Given the description of an element on the screen output the (x, y) to click on. 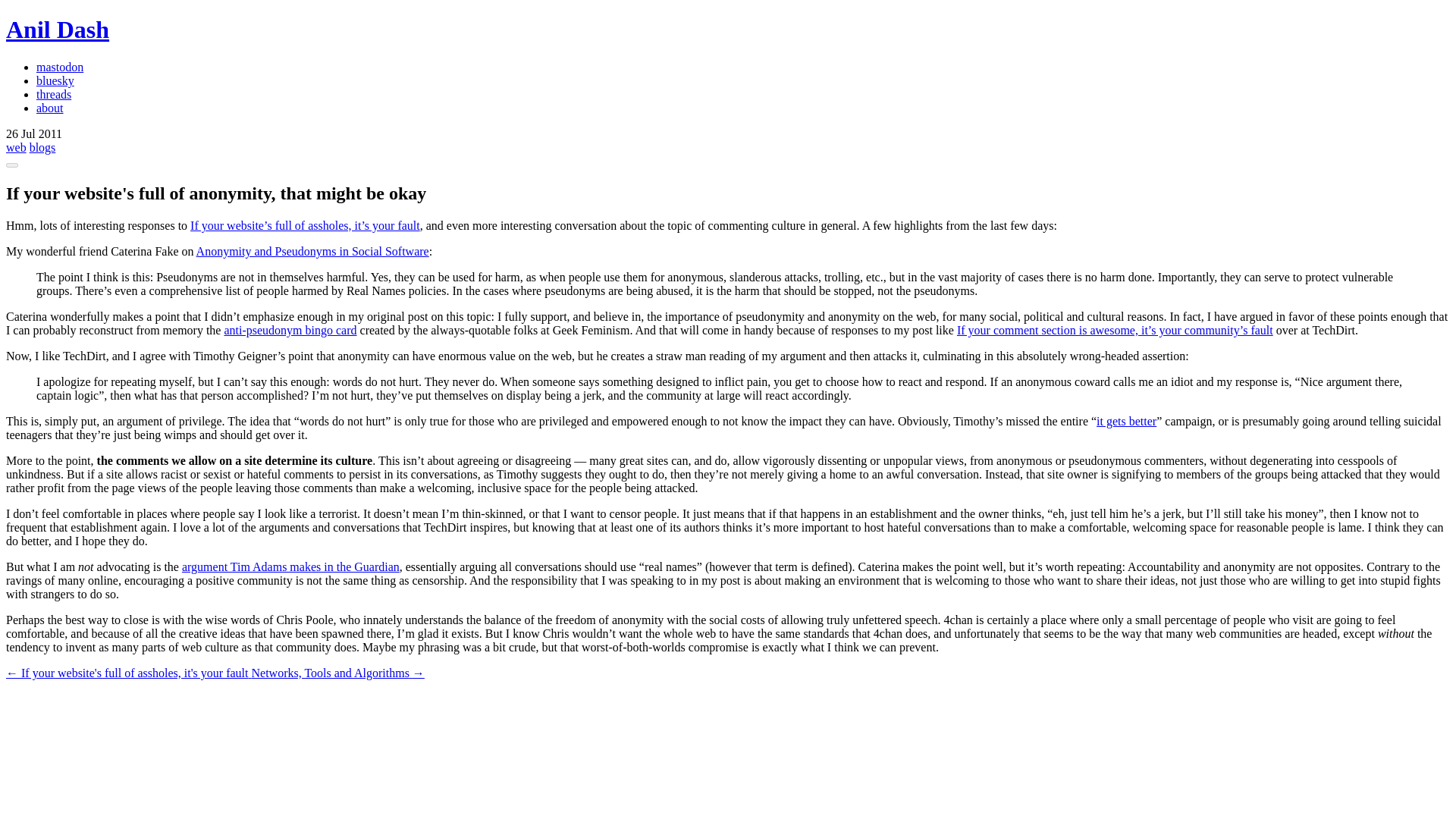
about (50, 107)
mastodon (59, 66)
web (15, 146)
bluesky (55, 80)
argument Tim Adams makes in the Guardian (290, 566)
Anil Dash (57, 29)
Anonymity and Pseudonyms in Social Software (312, 250)
anti-pseudonym bingo card (290, 329)
it gets better (1126, 420)
blogs (42, 146)
